Given the description of an element on the screen output the (x, y) to click on. 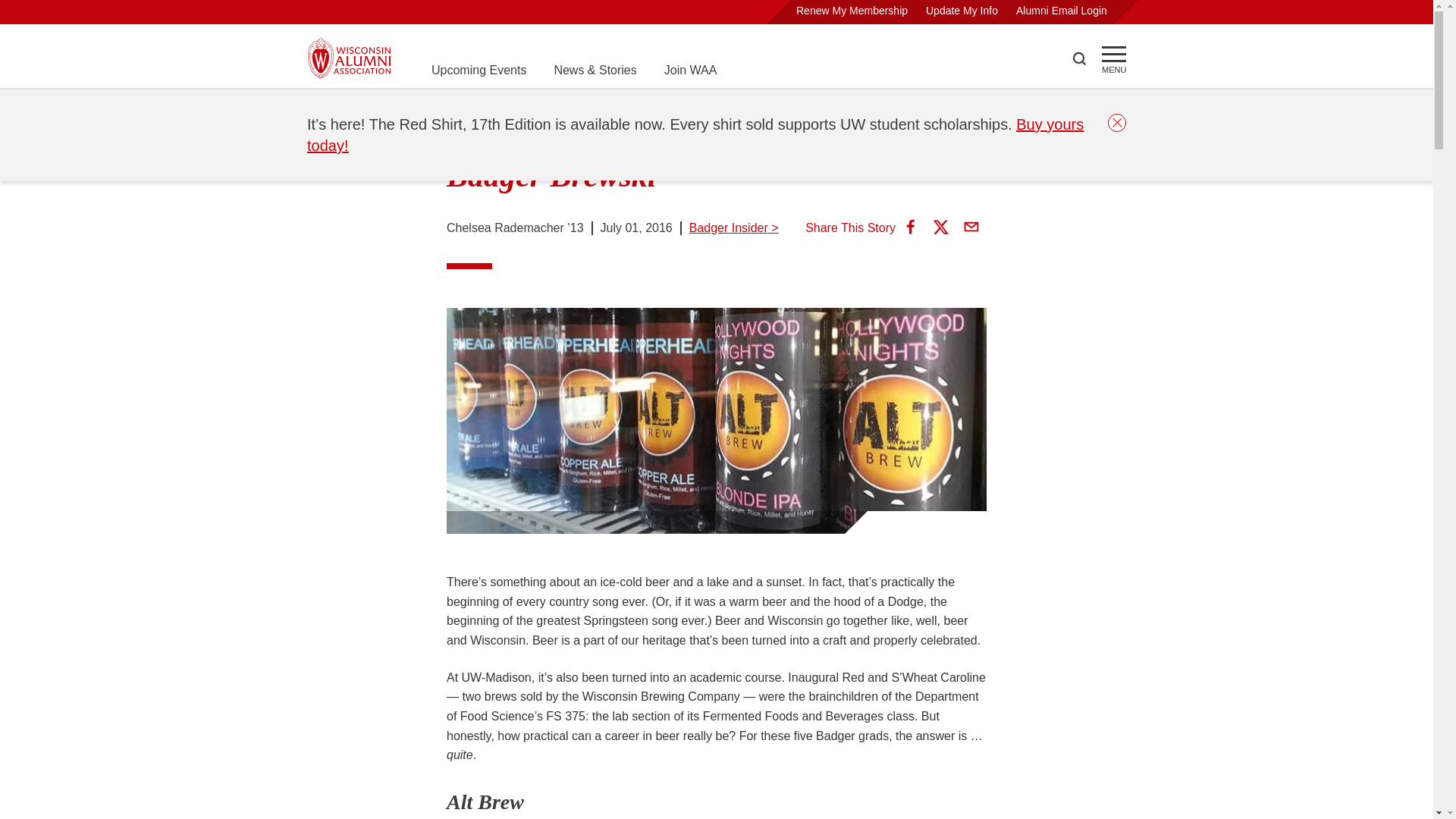
Badger Insider (468, 107)
Alumni Email Login (1061, 10)
Join WAA (690, 70)
Update My Info (961, 10)
Upcoming Events (477, 70)
Home (322, 107)
Renew My Membership (851, 10)
